Given the description of an element on the screen output the (x, y) to click on. 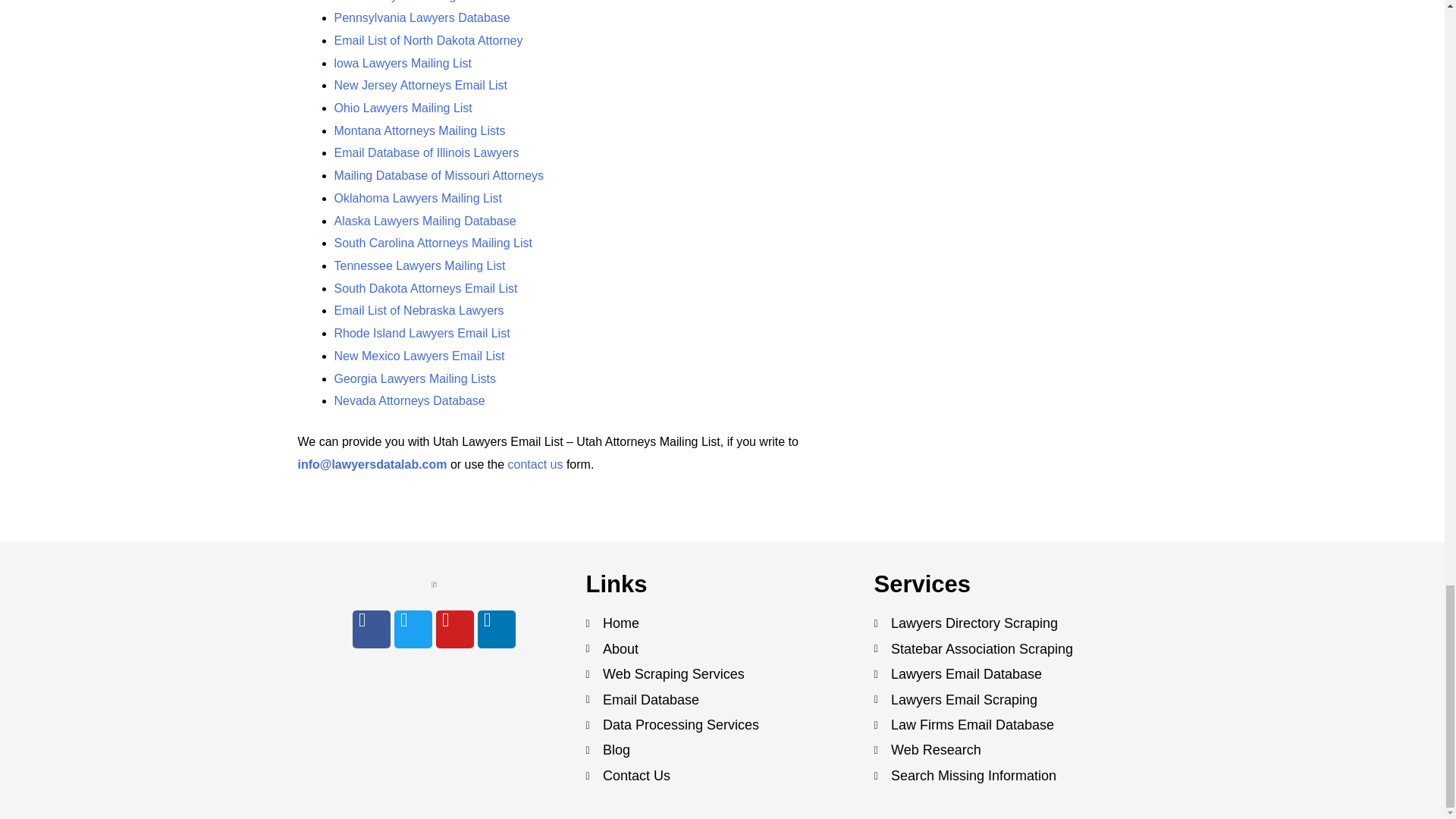
Pennsylvania Lawyers Database (421, 17)
Texas Lawyers Mailing List (405, 1)
